Given the description of an element on the screen output the (x, y) to click on. 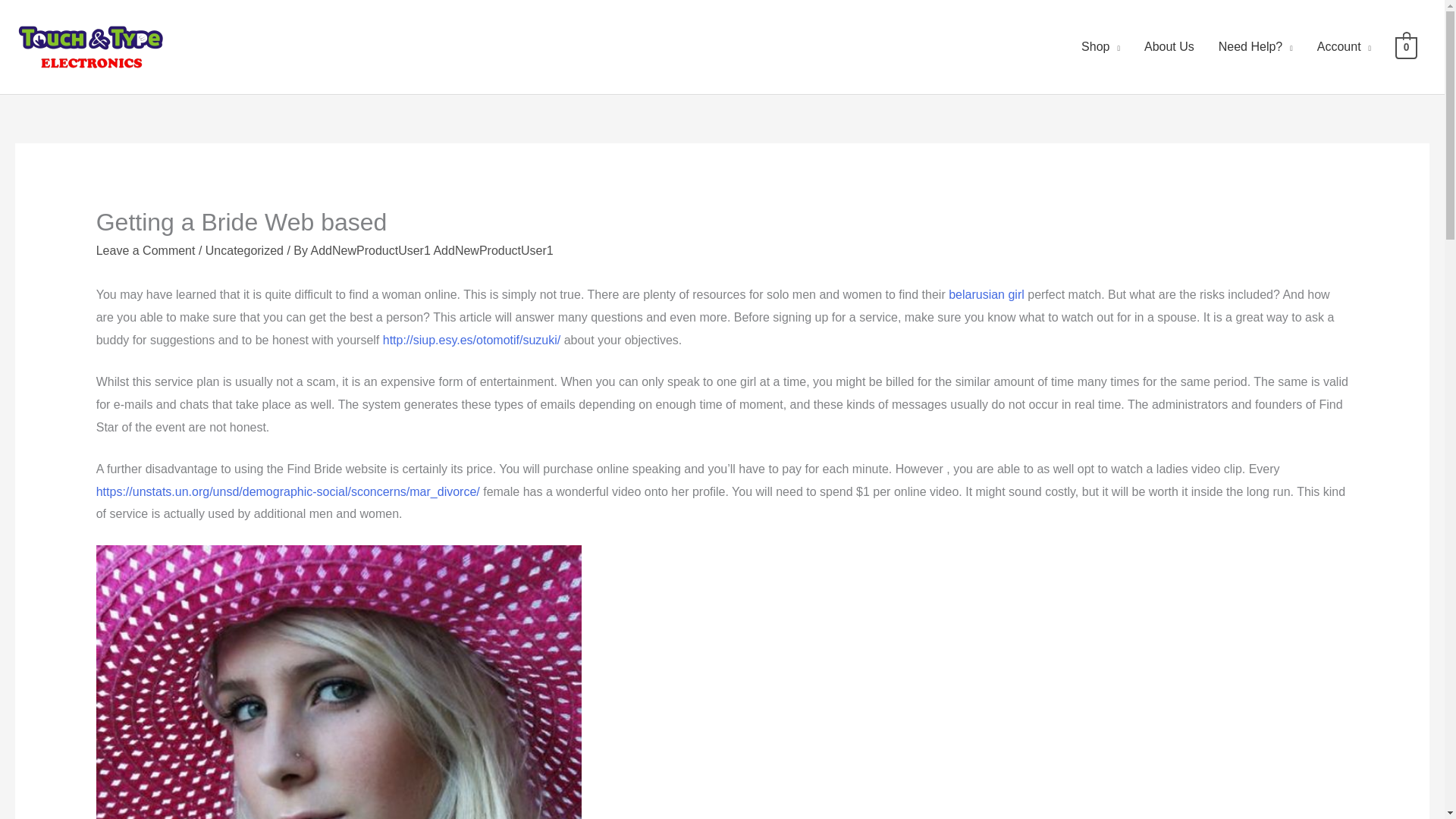
0 (1405, 46)
Account (1343, 46)
Need Help? (1255, 46)
AddNewProductUser1 AddNewProductUser1 (432, 250)
Uncategorized (244, 250)
About Us (1169, 46)
Shop (1100, 46)
belarusian girl (987, 294)
View all posts by AddNewProductUser1 AddNewProductUser1 (432, 250)
Leave a Comment (145, 250)
